Given the description of an element on the screen output the (x, y) to click on. 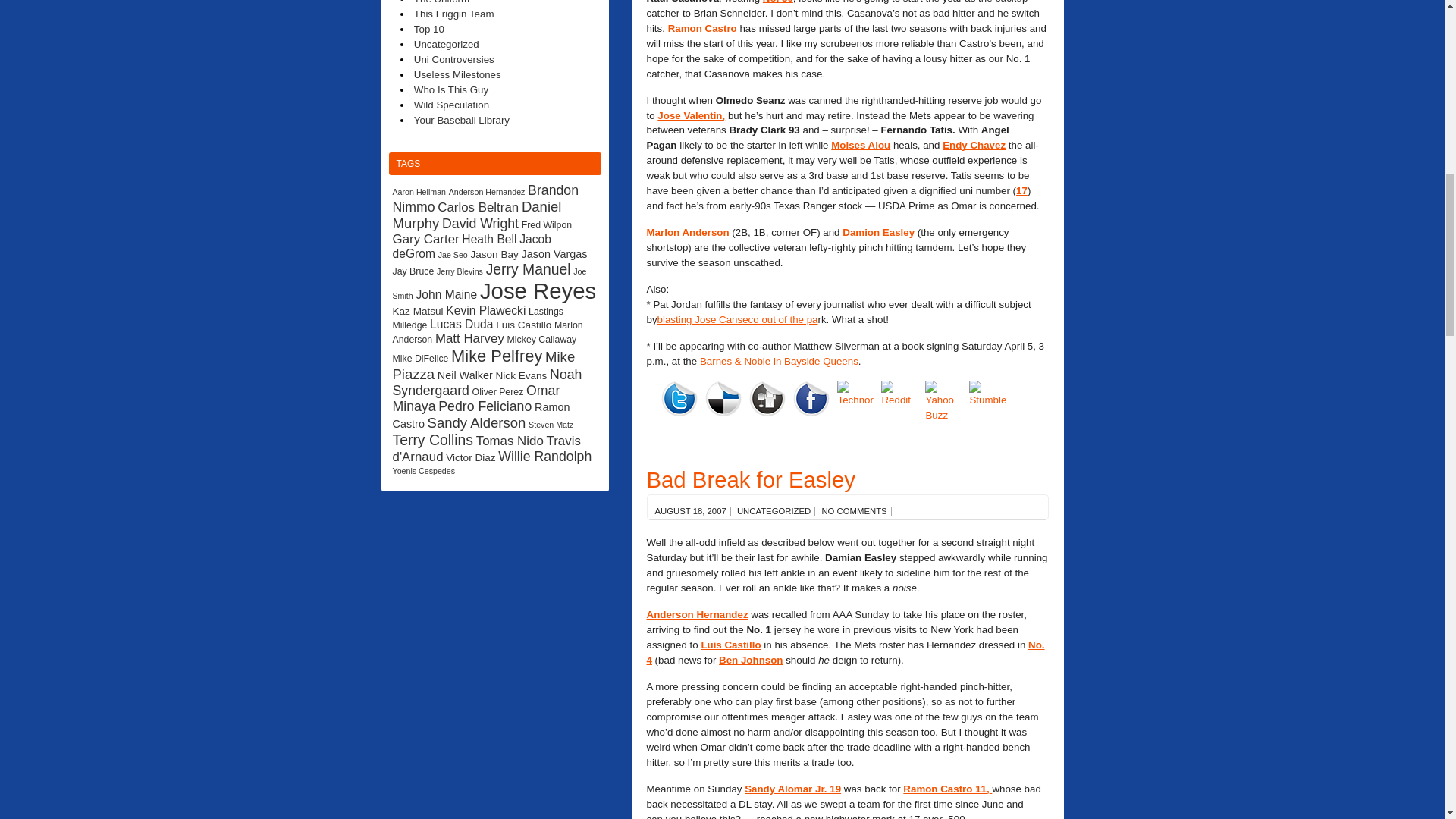
Moises Alou (860, 144)
Marlon Anderson  (689, 232)
No. 30 (777, 2)
Endy Chavez (974, 144)
Damion Easley (878, 232)
Ramon Castro (702, 28)
17 (1021, 190)
blasting Jose Canseco out of the pa (738, 319)
Jose Valentin, (691, 114)
